Given the description of an element on the screen output the (x, y) to click on. 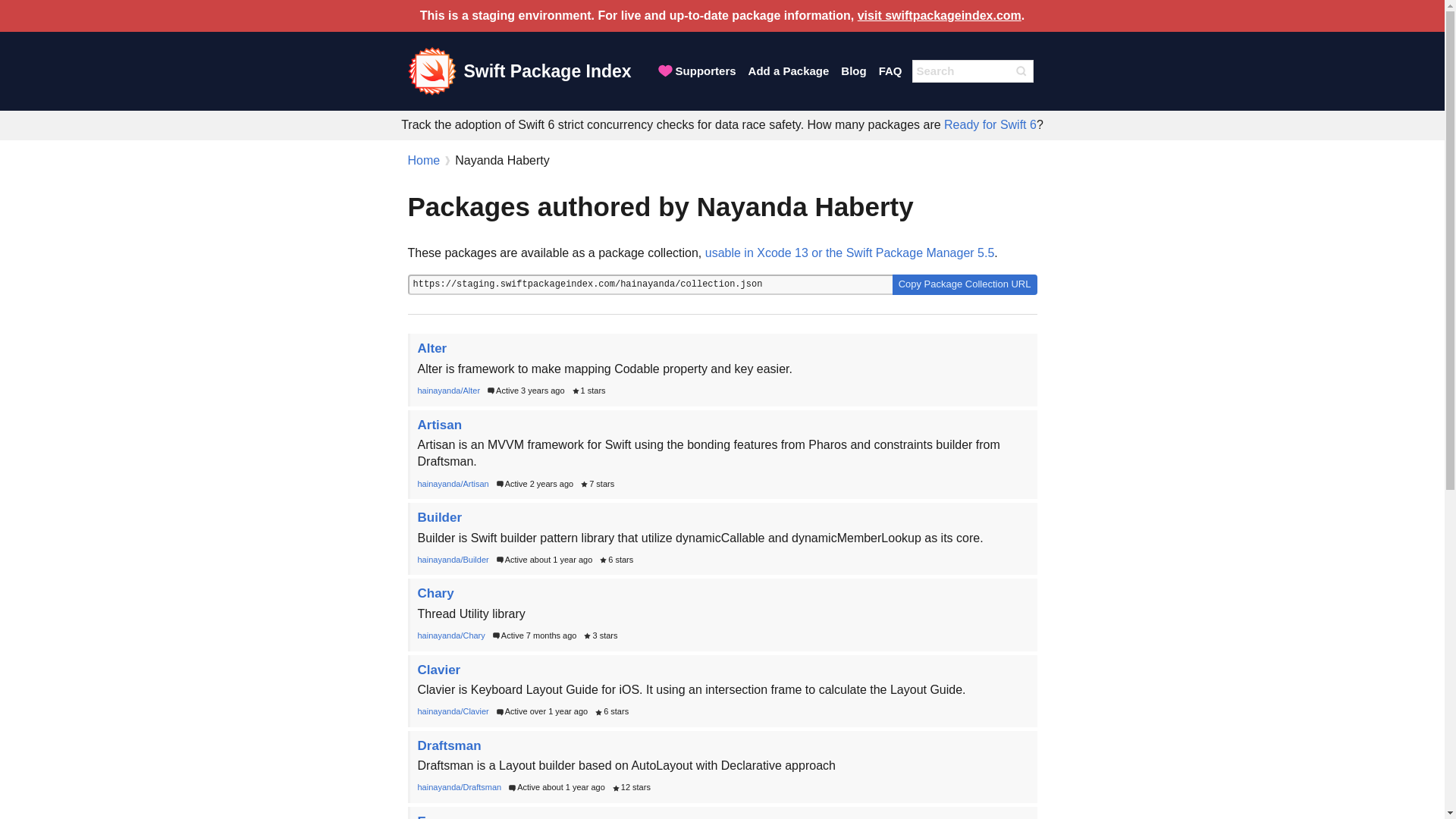
Home (424, 159)
Copy Package Collection URL (964, 284)
usable in Xcode 13 or the Swift Package Manager 5.5 (849, 252)
Swift Package Index (519, 70)
FAQ (890, 70)
visit swiftpackageindex.com (939, 15)
Ready for Swift 6 (989, 124)
Blog (852, 70)
Add a Package (788, 70)
Supporters (695, 70)
